Given the description of an element on the screen output the (x, y) to click on. 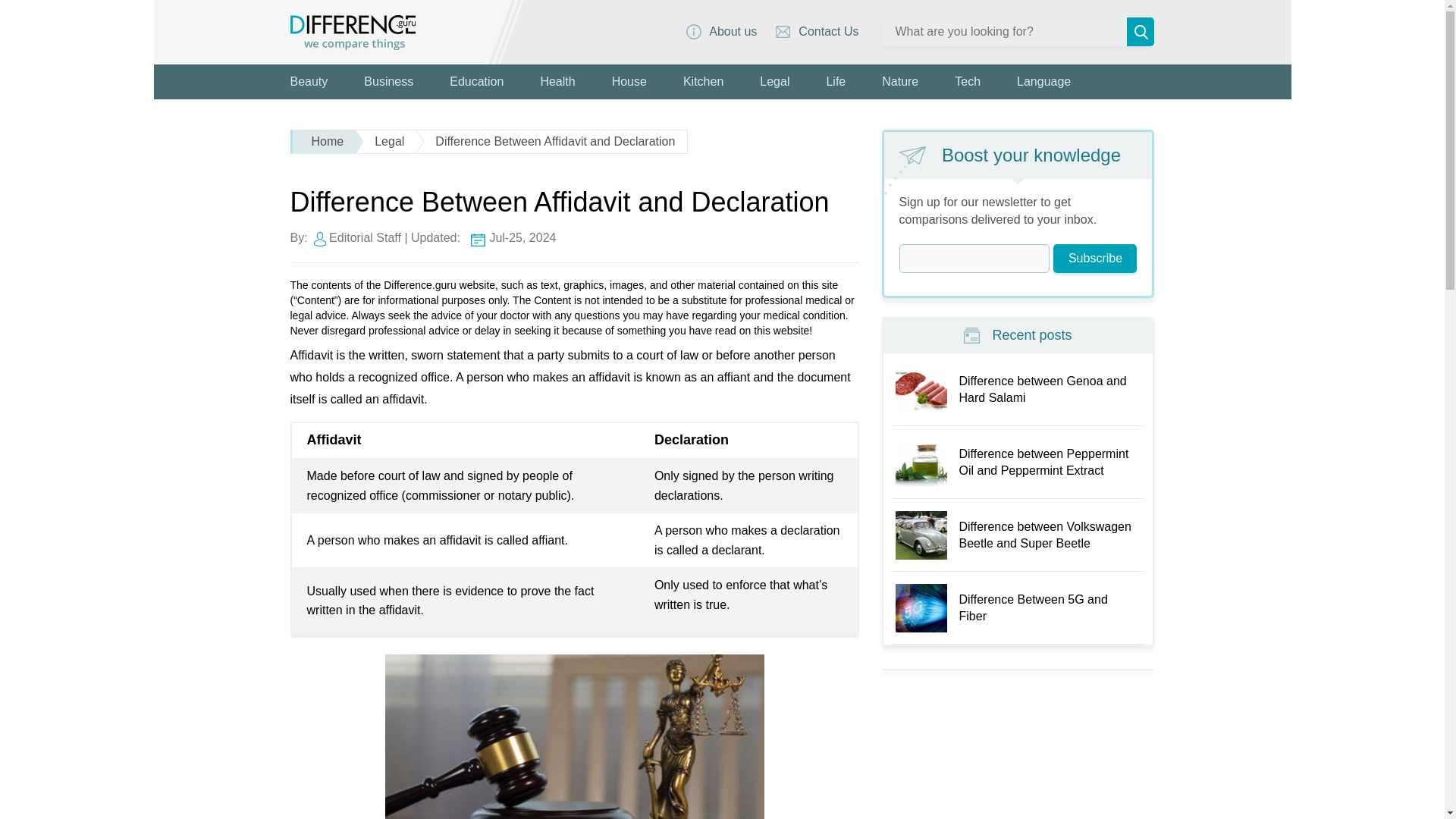
Kitchen (703, 81)
House (629, 81)
Business (388, 81)
Home (324, 141)
Education (475, 81)
Nature (899, 81)
Tech (967, 81)
